Given the description of an element on the screen output the (x, y) to click on. 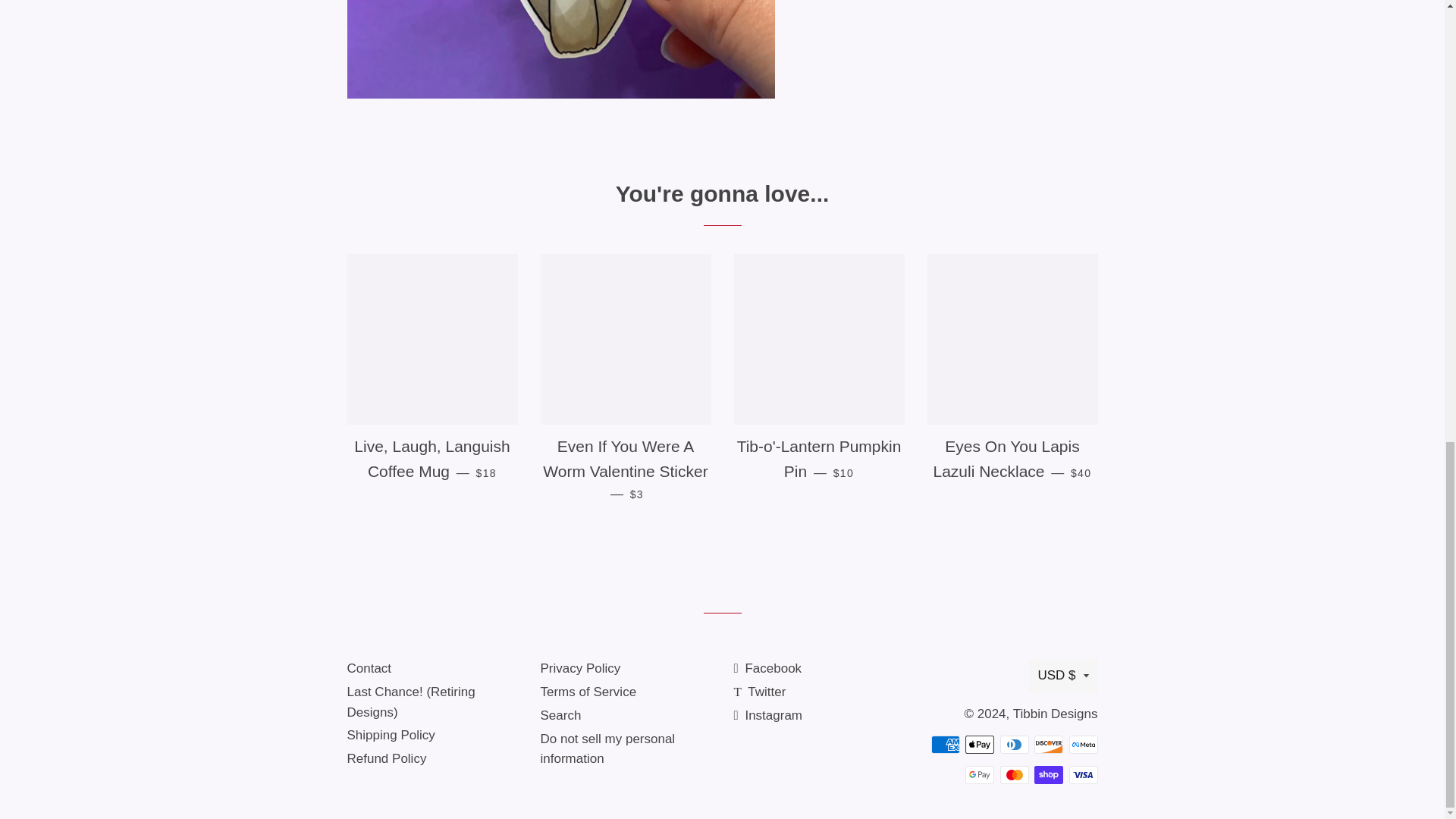
American Express (945, 744)
Diners Club (1012, 744)
Tibbin Designs on Twitter (759, 691)
Tibbin Designs on Instagram (768, 715)
Apple Pay (979, 744)
Tibbin Designs on Facebook (767, 667)
Meta Pay (1082, 744)
Google Pay (979, 774)
Shop Pay (1047, 774)
Visa (1082, 774)
Mastercard (1012, 774)
Discover (1047, 744)
